Given the description of an element on the screen output the (x, y) to click on. 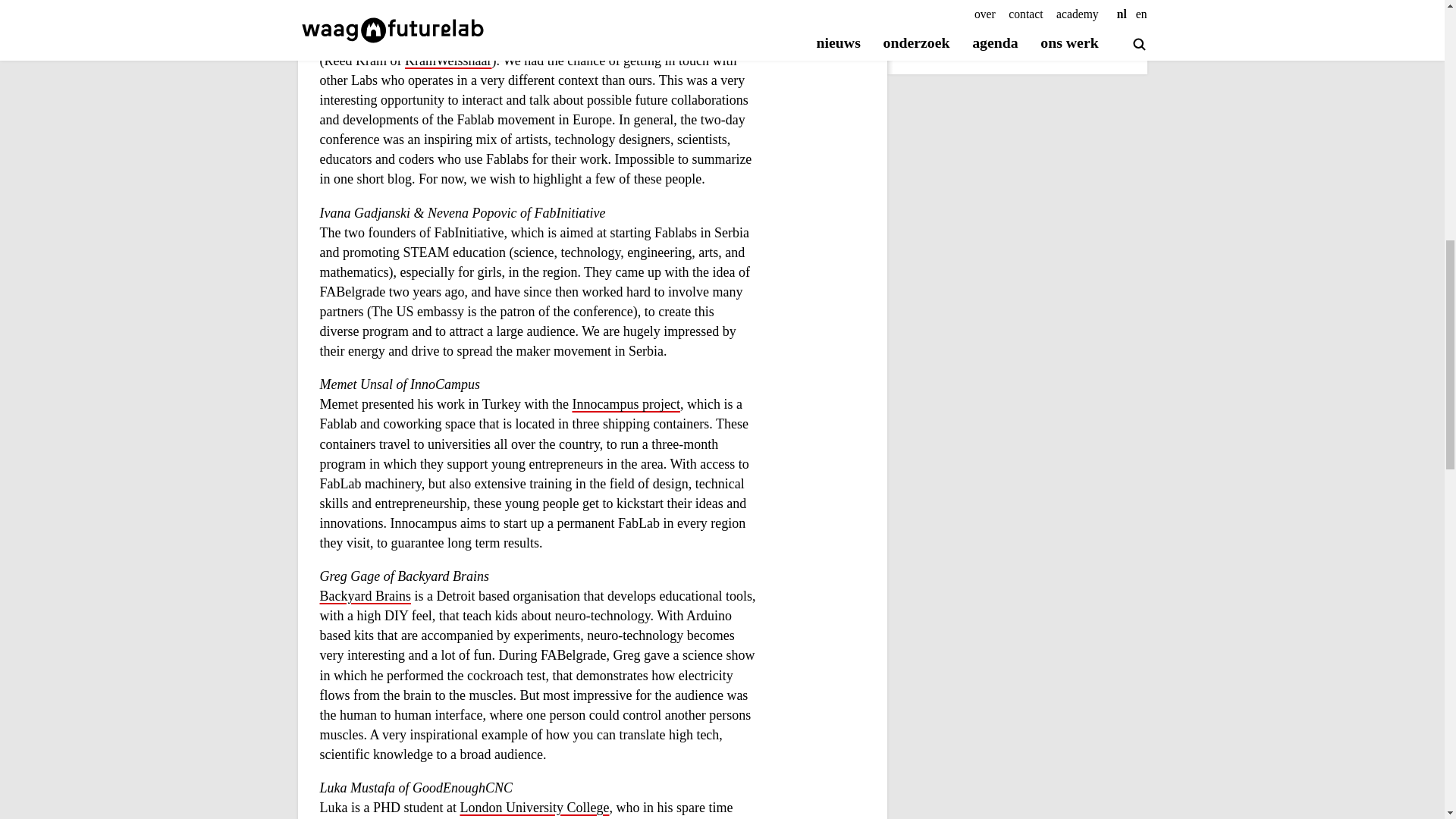
Innocampus project (625, 404)
KramWeisshaar (448, 61)
London University College (534, 808)
RepRap (598, 21)
Backyard Brains (365, 596)
Schrijf je in voor onze nieuwsbrief (1005, 38)
